Given the description of an element on the screen output the (x, y) to click on. 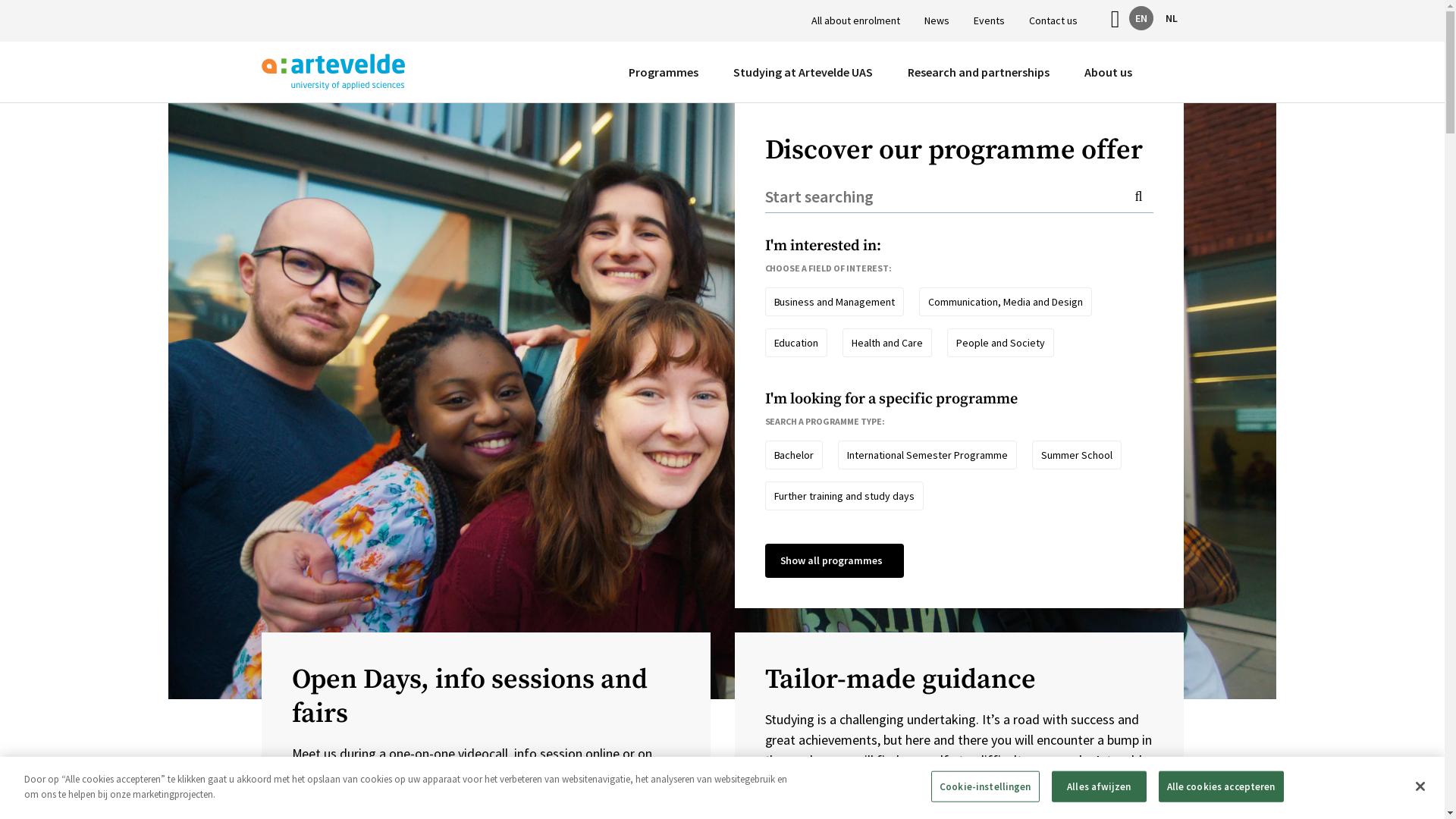
Cookie-instellingen Element type: text (984, 787)
About us Element type: text (1108, 71)
Open Days, info sessions and fairs Element type: text (485, 696)
Skip to main content Element type: text (0, 0)
Reset Element type: text (1134, 149)
Dropdown Element type: text (880, 72)
All about enrolment Element type: text (855, 20)
Events Element type: text (988, 20)
Studying at Artevelde UAS Element type: text (802, 71)
Health and Care Element type: text (886, 342)
Contact us Element type: text (1053, 20)
Search Element type: text (1158, 149)
Tailor-made guidance Element type: text (958, 679)
Research and partnerships Element type: text (977, 71)
Further training and study days Element type: text (843, 495)
Show all programmes Element type: text (833, 560)
International Semester Programme Element type: text (926, 454)
People and Society Element type: text (1000, 342)
Dropdown Element type: text (1140, 72)
Communication, Media and Design Element type: text (1005, 301)
Education Element type: text (795, 342)
Start searching Element type: hover (958, 196)
Search Element type: text (1143, 196)
Alle cookies accepteren Element type: text (1220, 787)
Summer School Element type: text (1076, 454)
Alles afwijzen Element type: text (1098, 787)
EN Element type: text (1140, 18)
Bachelor Element type: text (793, 454)
Dropdown Element type: text (706, 72)
Dropdown Element type: text (1058, 72)
NL Element type: text (1170, 18)
News Element type: text (936, 20)
Business and Management Element type: text (833, 301)
Programmes Element type: text (662, 71)
Search Element type: text (1168, 71)
